Given the description of an element on the screen output the (x, y) to click on. 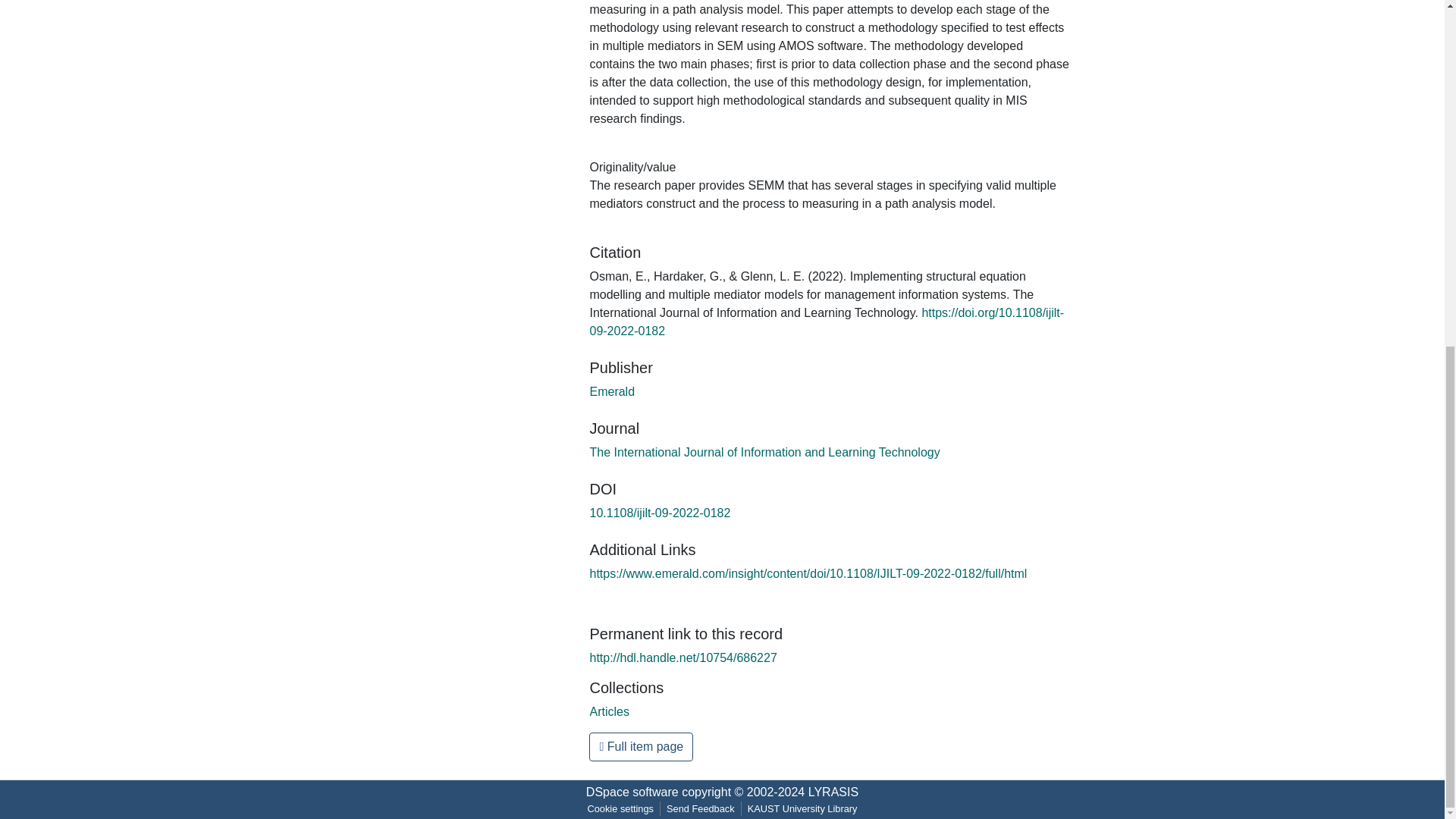
Articles (608, 711)
DSpace software (632, 791)
Send Feedback (701, 808)
KAUST University Library (802, 808)
LYRASIS (833, 791)
Full item page (641, 746)
Emerald (611, 391)
Cookie settings (619, 808)
